Given the description of an element on the screen output the (x, y) to click on. 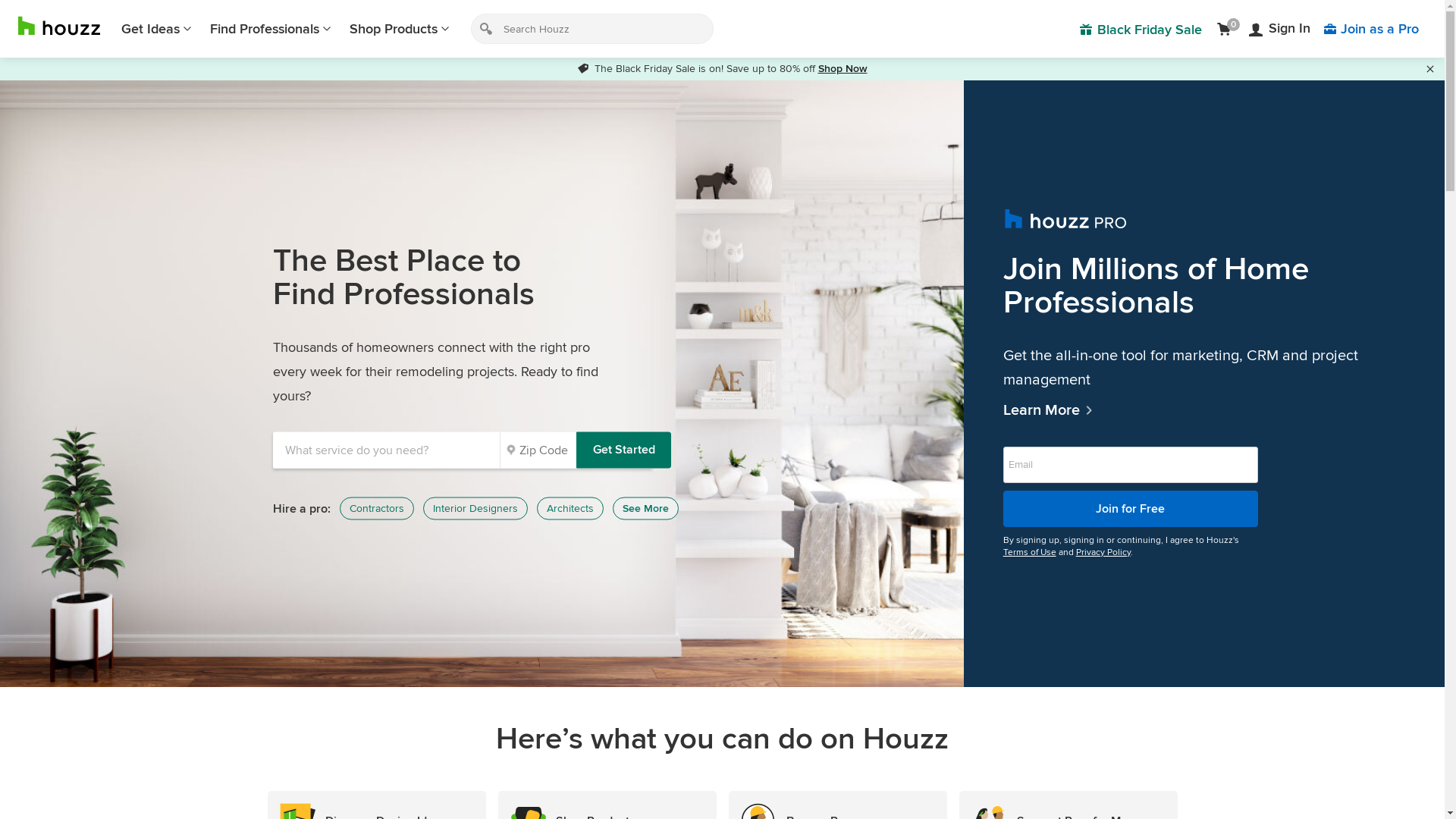
Join for Free Element type: text (1130, 507)
The Black Friday Sale is on! Save up to 80% off  Element type: text (697, 68)
Find Professionals Element type: text (270, 28)
Join as a Pro Element type: text (1371, 27)
Sign In Element type: text (1279, 28)
Interior Designers Element type: text (475, 508)
Get Ideas Element type: text (156, 28)
Get Started Element type: text (623, 450)
Architects Element type: text (569, 508)
Learn More Element type: text (1204, 409)
Contractors Element type: text (376, 508)
Shop Now Element type: text (841, 68)
Privacy Policy Element type: text (1103, 551)
0 Element type: text (1226, 28)
Terms of Use Element type: text (1029, 551)
Black Friday Sale Element type: text (1140, 28)
See More Element type: text (645, 508)
Shop Products Element type: text (399, 28)
